Given the description of an element on the screen output the (x, y) to click on. 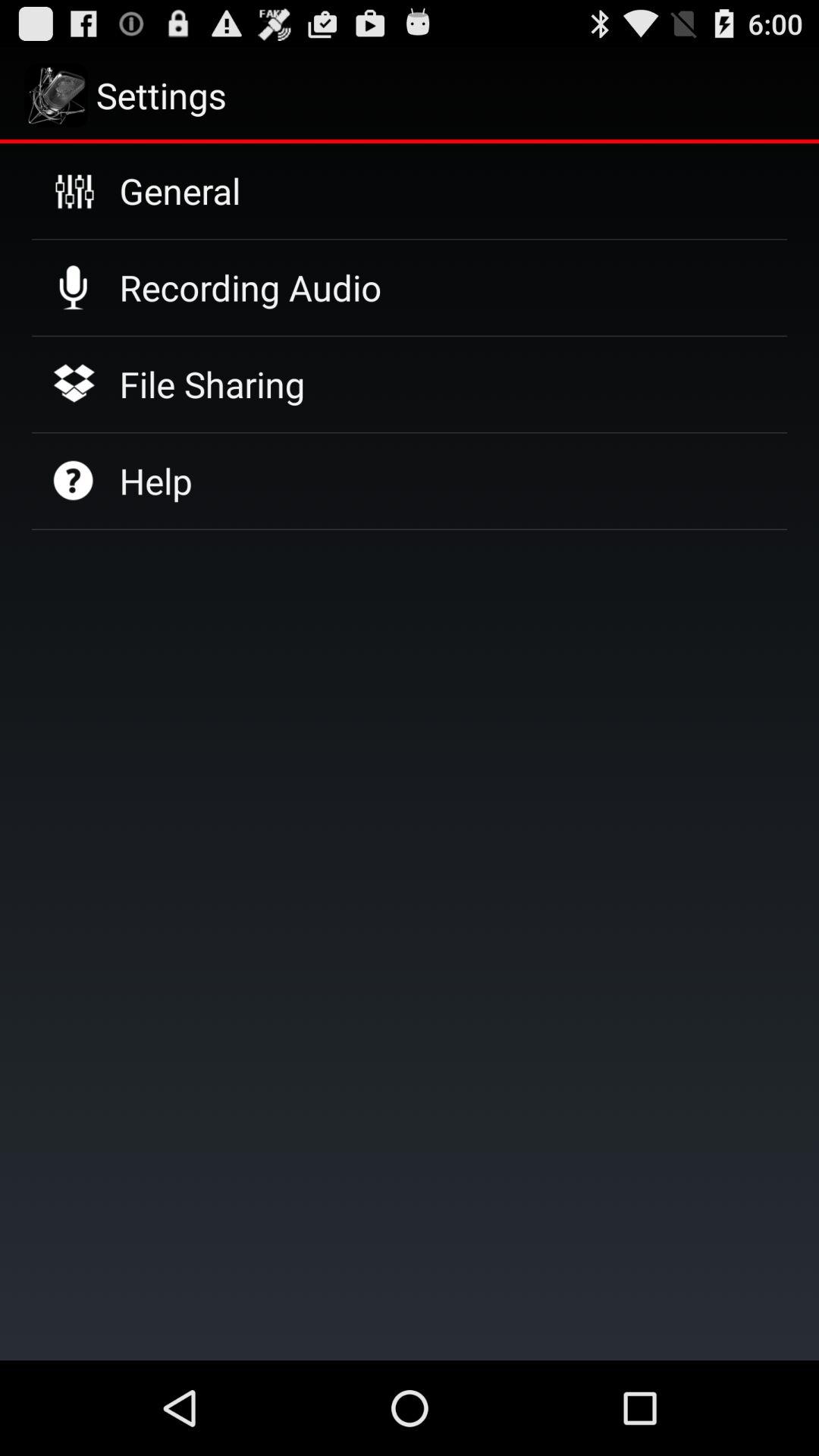
jump until file sharing icon (211, 384)
